Given the description of an element on the screen output the (x, y) to click on. 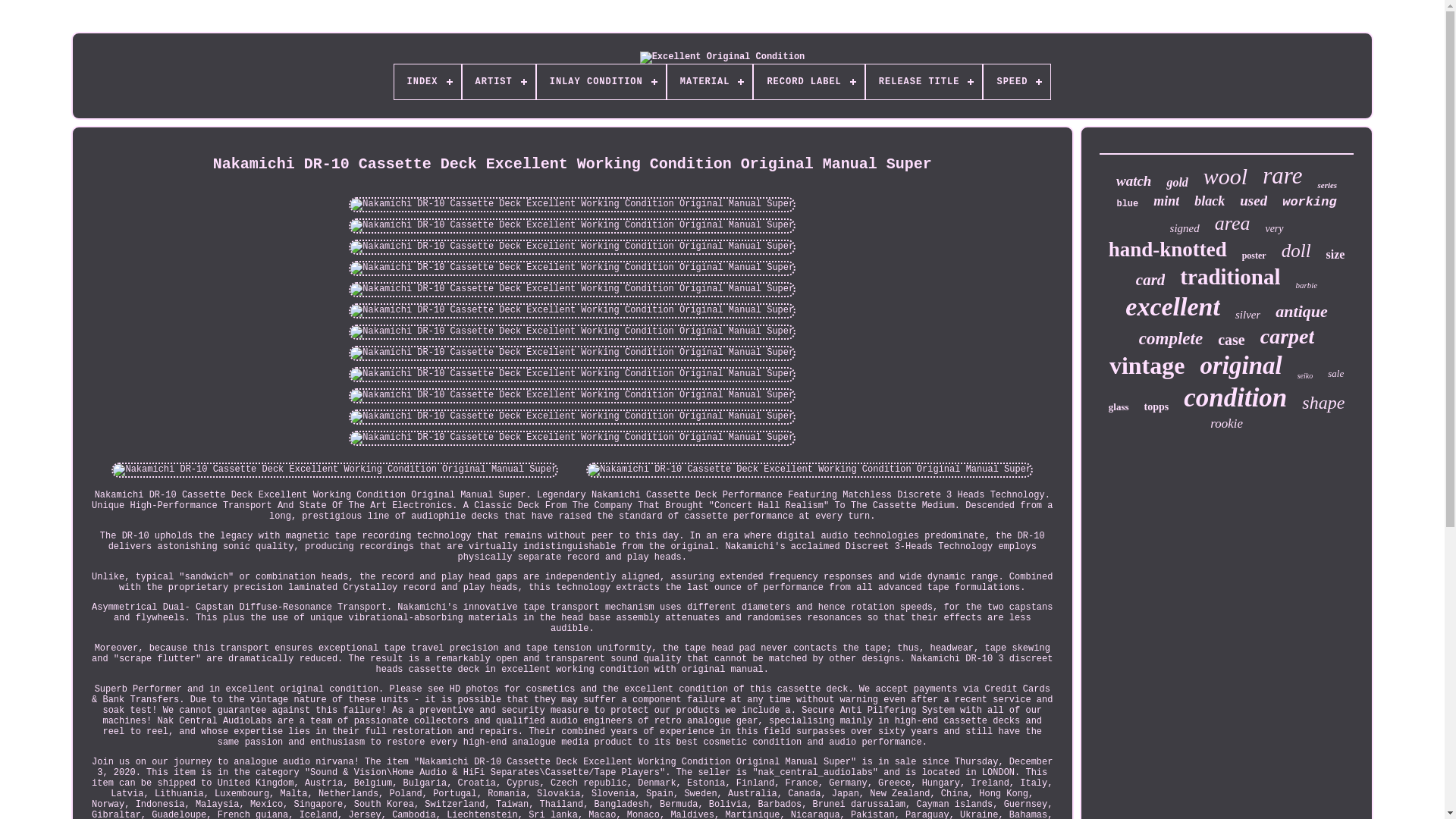
MATERIAL (709, 81)
INDEX (427, 81)
